Given the description of an element on the screen output the (x, y) to click on. 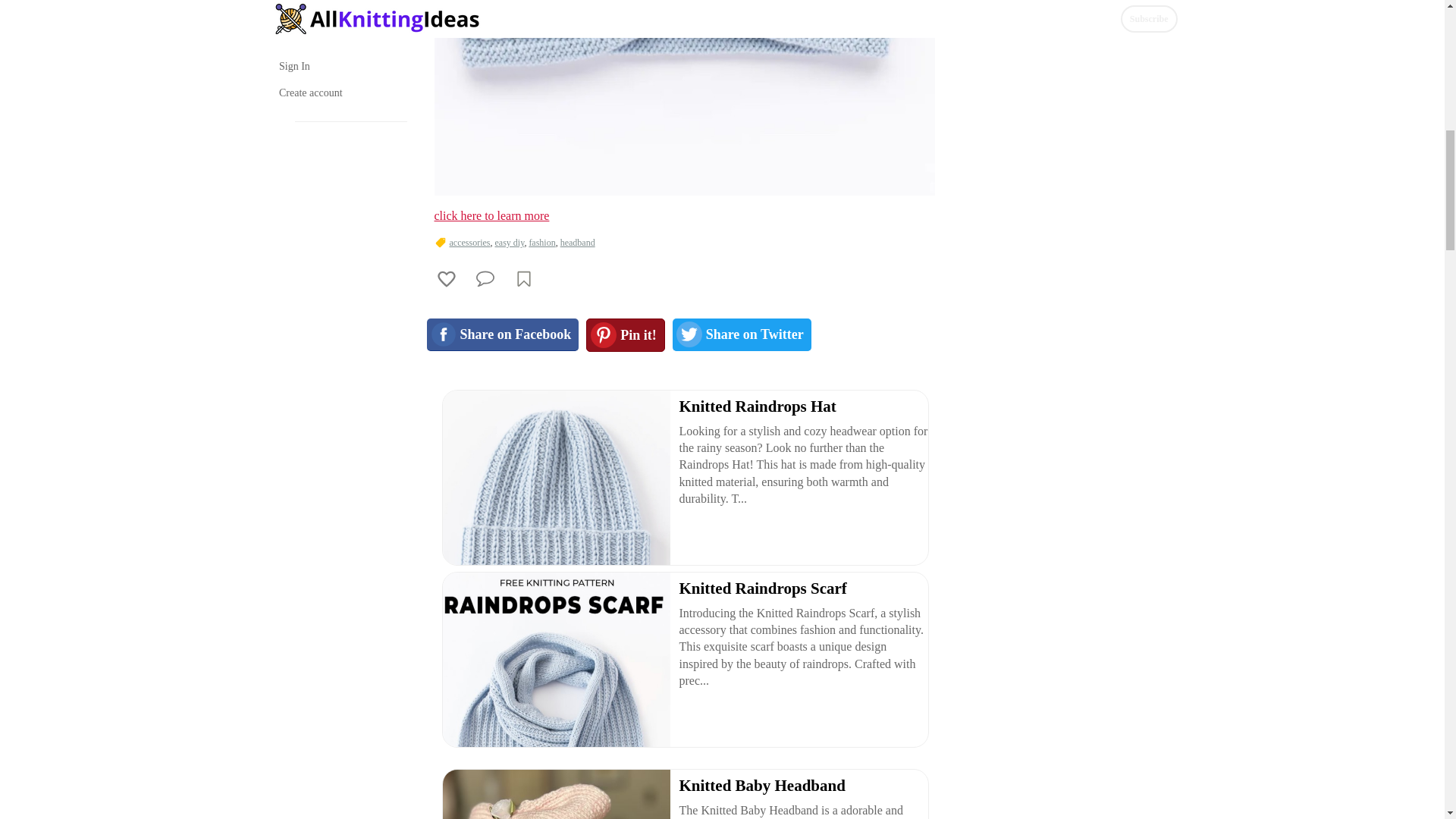
fashion (541, 242)
Share on Twitter (741, 334)
click here to learn more (490, 215)
accessories (468, 242)
Share on Facebook (502, 334)
Pin it! (625, 335)
headband (577, 242)
easy diy (509, 242)
